Given the description of an element on the screen output the (x, y) to click on. 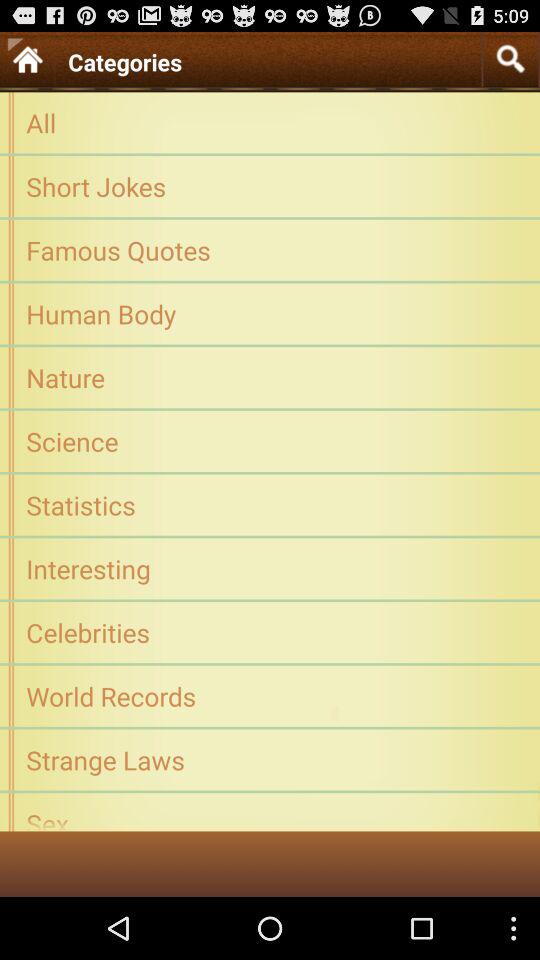
launch icon above interesting app (270, 504)
